Given the description of an element on the screen output the (x, y) to click on. 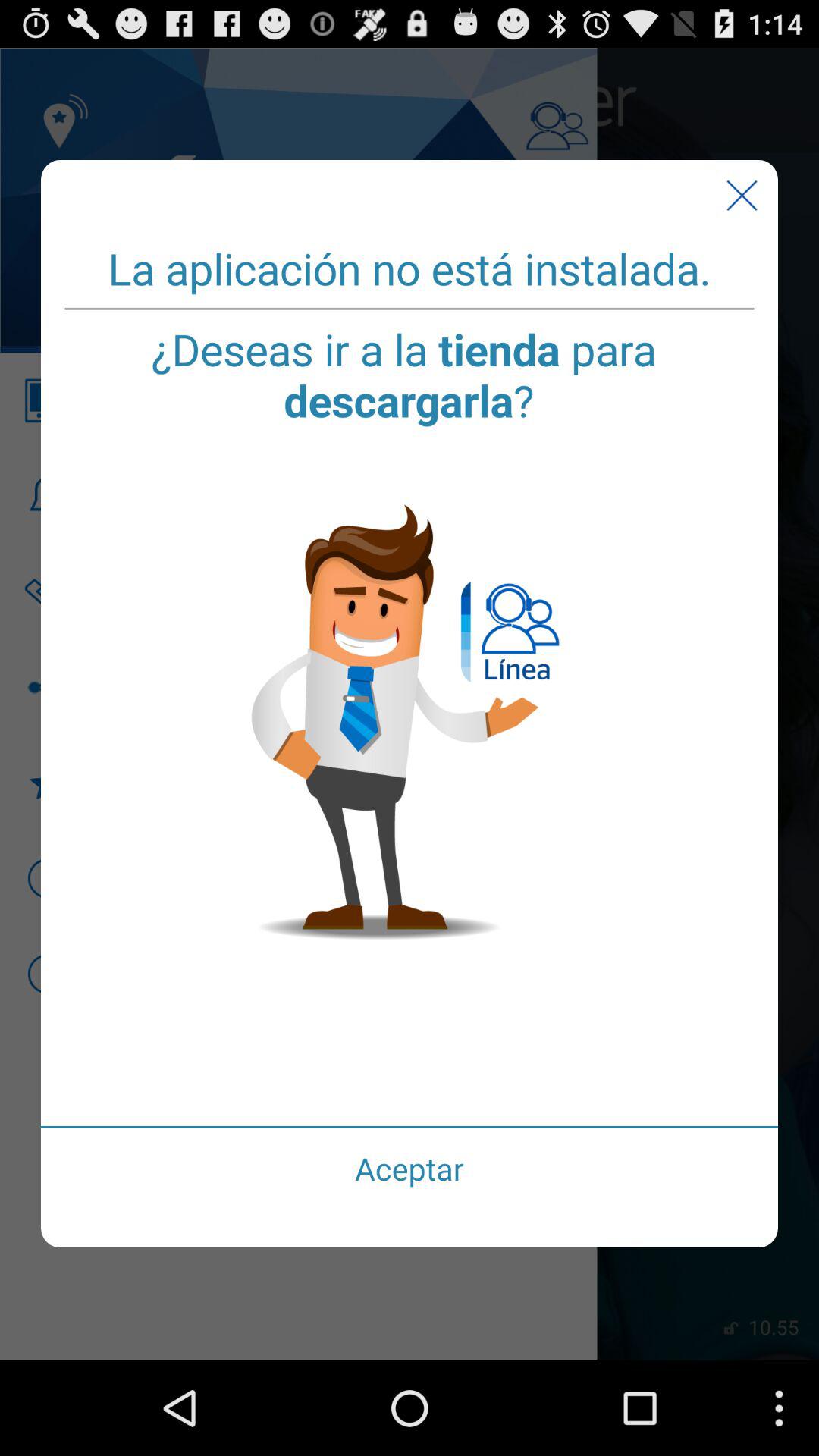
close pop up (742, 195)
